Given the description of an element on the screen output the (x, y) to click on. 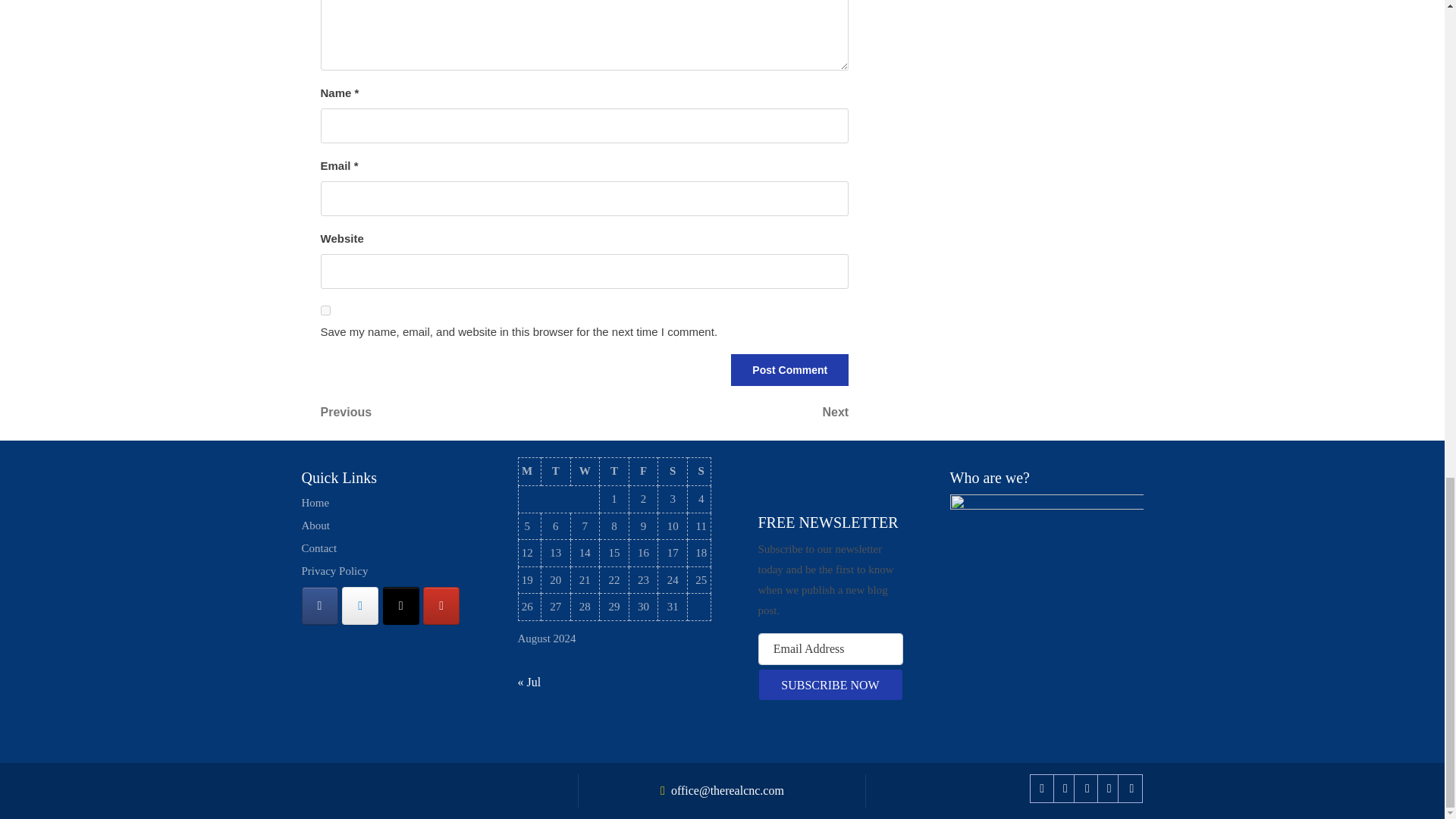
Instagram (1087, 788)
Thursday (613, 471)
Tuesday (555, 471)
Youtube (1109, 788)
The Real CNC on Tiktok (400, 605)
Home (315, 502)
Post Comment (789, 369)
Facebook (1042, 788)
Twitter (1065, 788)
The Real CNC on Facebook (319, 605)
